Given the description of an element on the screen output the (x, y) to click on. 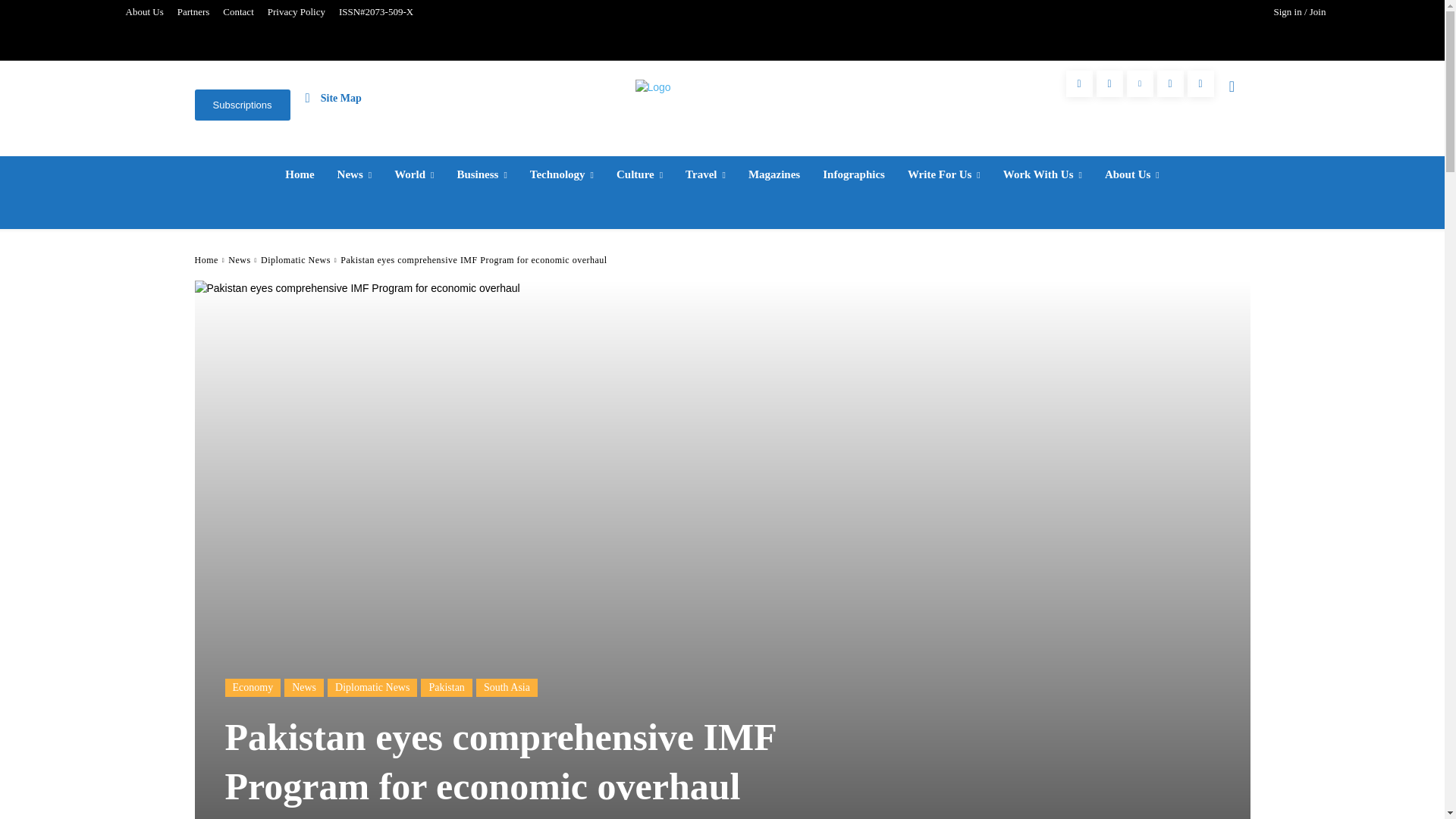
Facebook (1079, 82)
Linkedin (1139, 82)
Instagram (1109, 82)
View all posts in Diplomatic News (295, 259)
Youtube (1201, 82)
View all posts in News (239, 259)
Subscriptions (241, 104)
Site Map (333, 97)
Twitter (1170, 82)
